Given the description of an element on the screen output the (x, y) to click on. 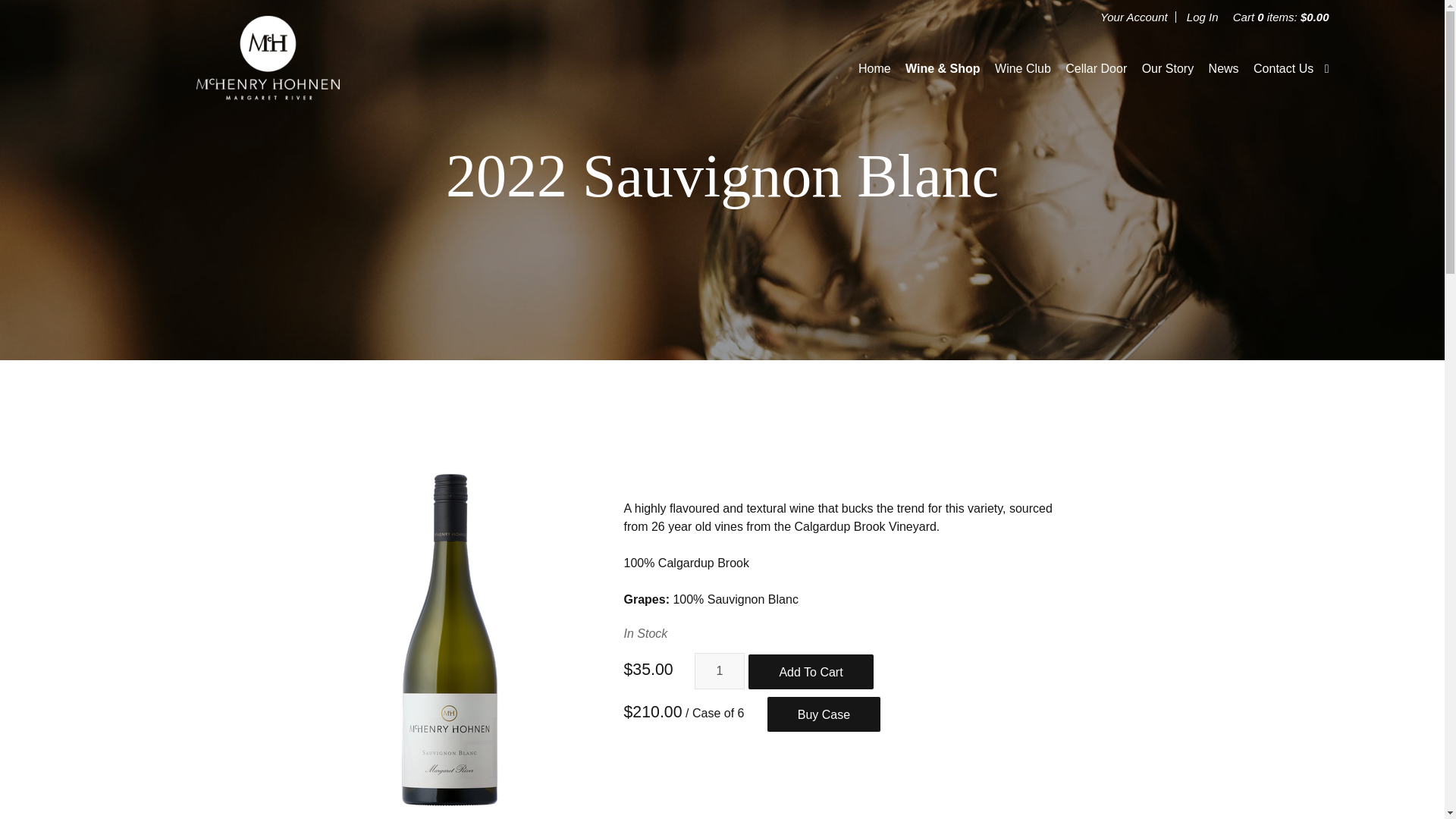
McHenry Hohnen Vintners (267, 68)
News (1223, 68)
Buy Case (823, 714)
Cellar Door (1095, 68)
Wine Club (1022, 68)
Contact Us (1283, 68)
1 (719, 670)
Log In (1202, 16)
Your Account (1133, 16)
Home (875, 68)
Add To Cart (810, 671)
Our Story (1167, 68)
